Given the description of an element on the screen output the (x, y) to click on. 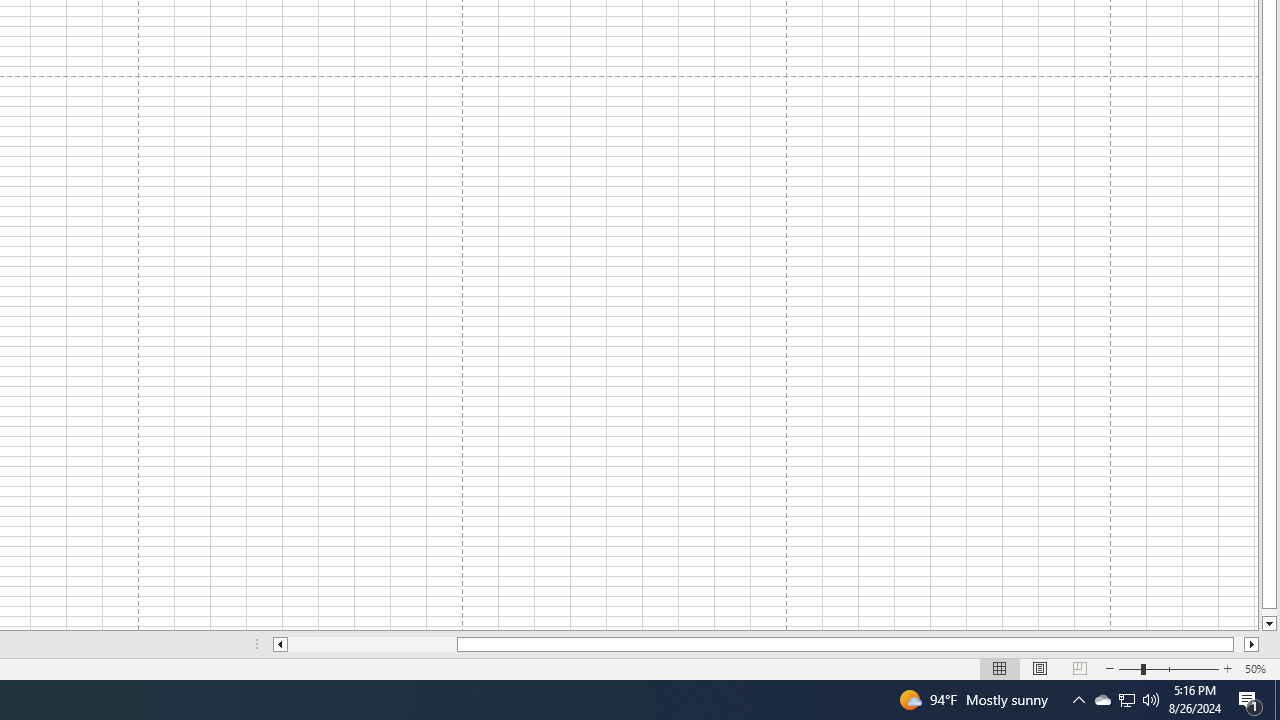
Page left (372, 644)
Page down (1268, 612)
Line down (1268, 624)
Column right (1252, 644)
Zoom (1168, 668)
Class: NetUIScrollBar (765, 644)
Page Break Preview (1079, 668)
Zoom In (1227, 668)
Zoom Out (1129, 668)
Column left (279, 644)
Page right (1238, 644)
